Given the description of an element on the screen output the (x, y) to click on. 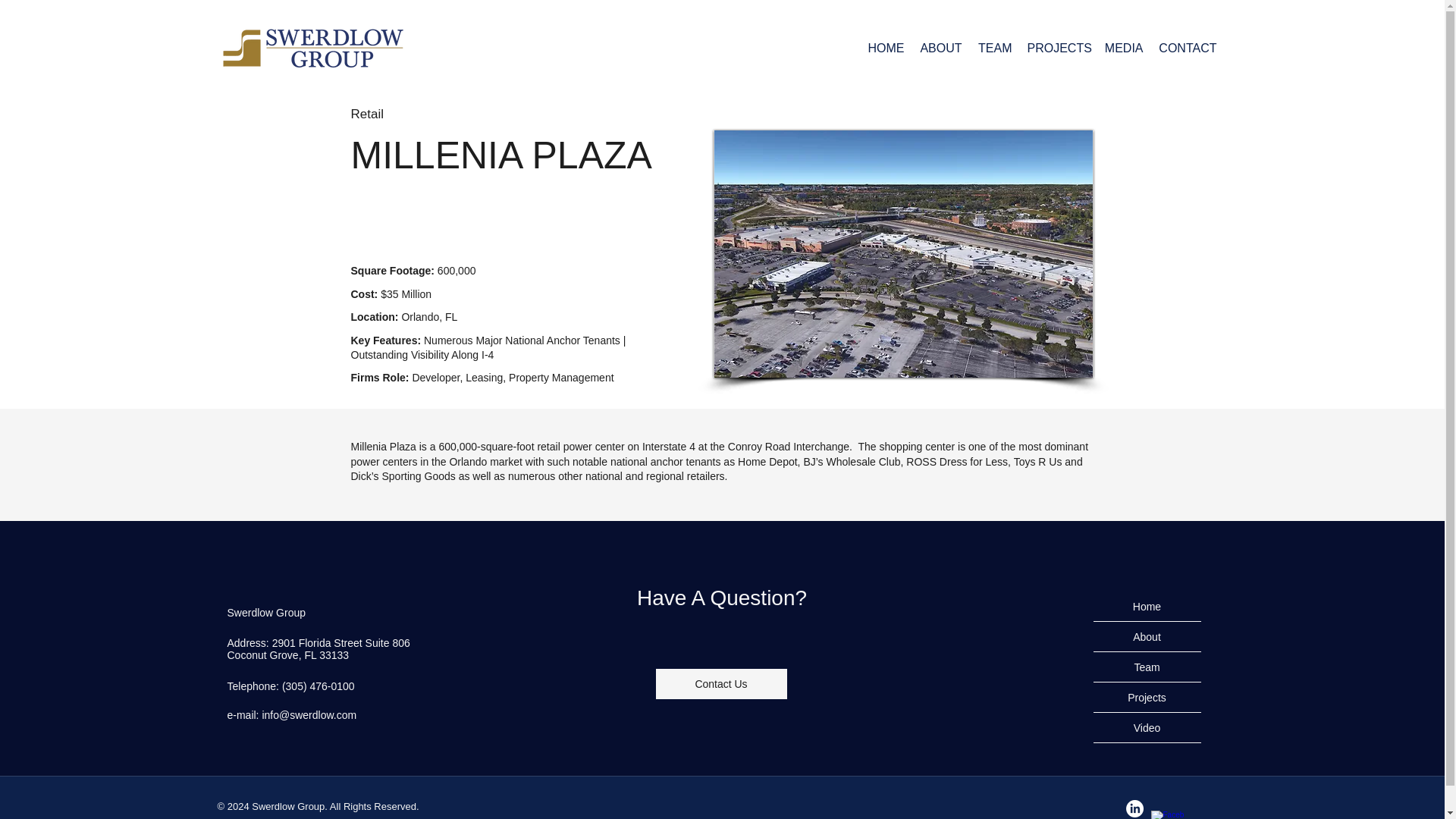
Projects (1147, 697)
About (1147, 636)
Team (1147, 666)
PROJECTS (1056, 47)
Contact Us (720, 684)
TEAM (994, 47)
Video (1147, 727)
MEDIA (1122, 47)
CONTACT (1187, 47)
HOME (885, 47)
